Given the description of an element on the screen output the (x, y) to click on. 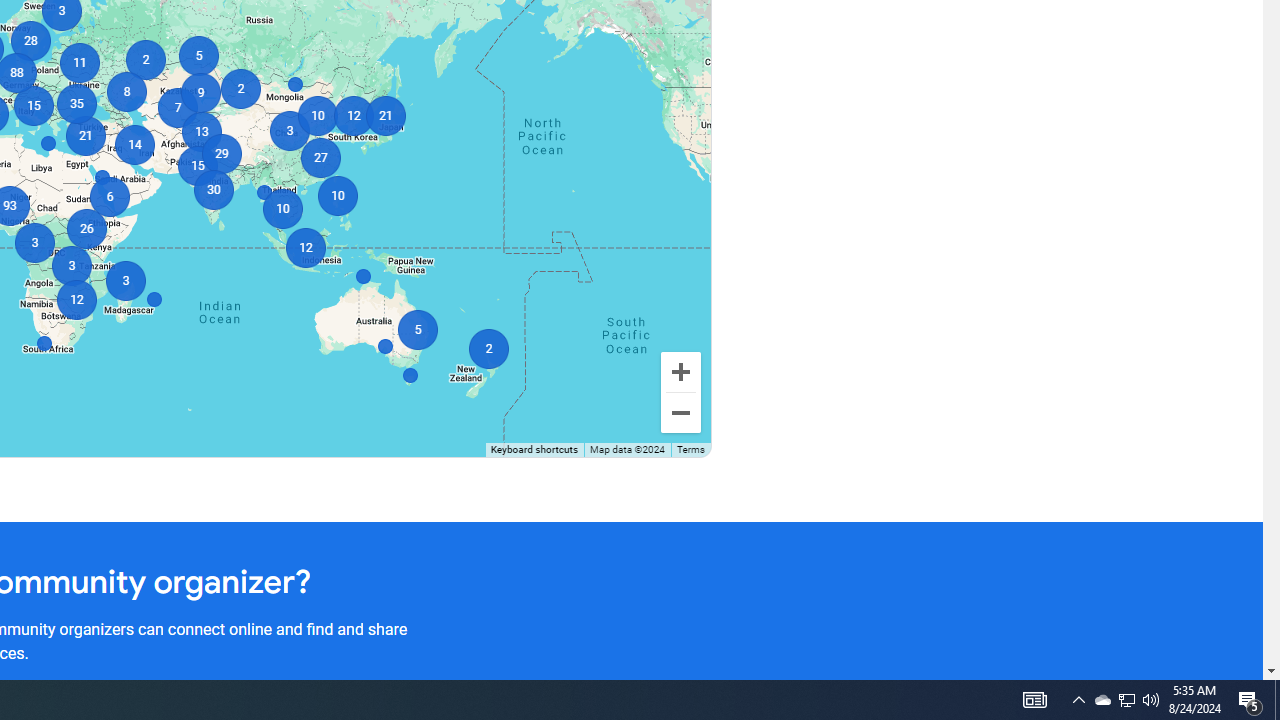
29 (220, 153)
Zoom in (680, 371)
5 (197, 56)
14 (133, 144)
Keyboard shortcuts (534, 449)
Terms (690, 449)
10 (316, 115)
35 (76, 103)
27 (319, 157)
6 (109, 196)
